Given the description of an element on the screen output the (x, y) to click on. 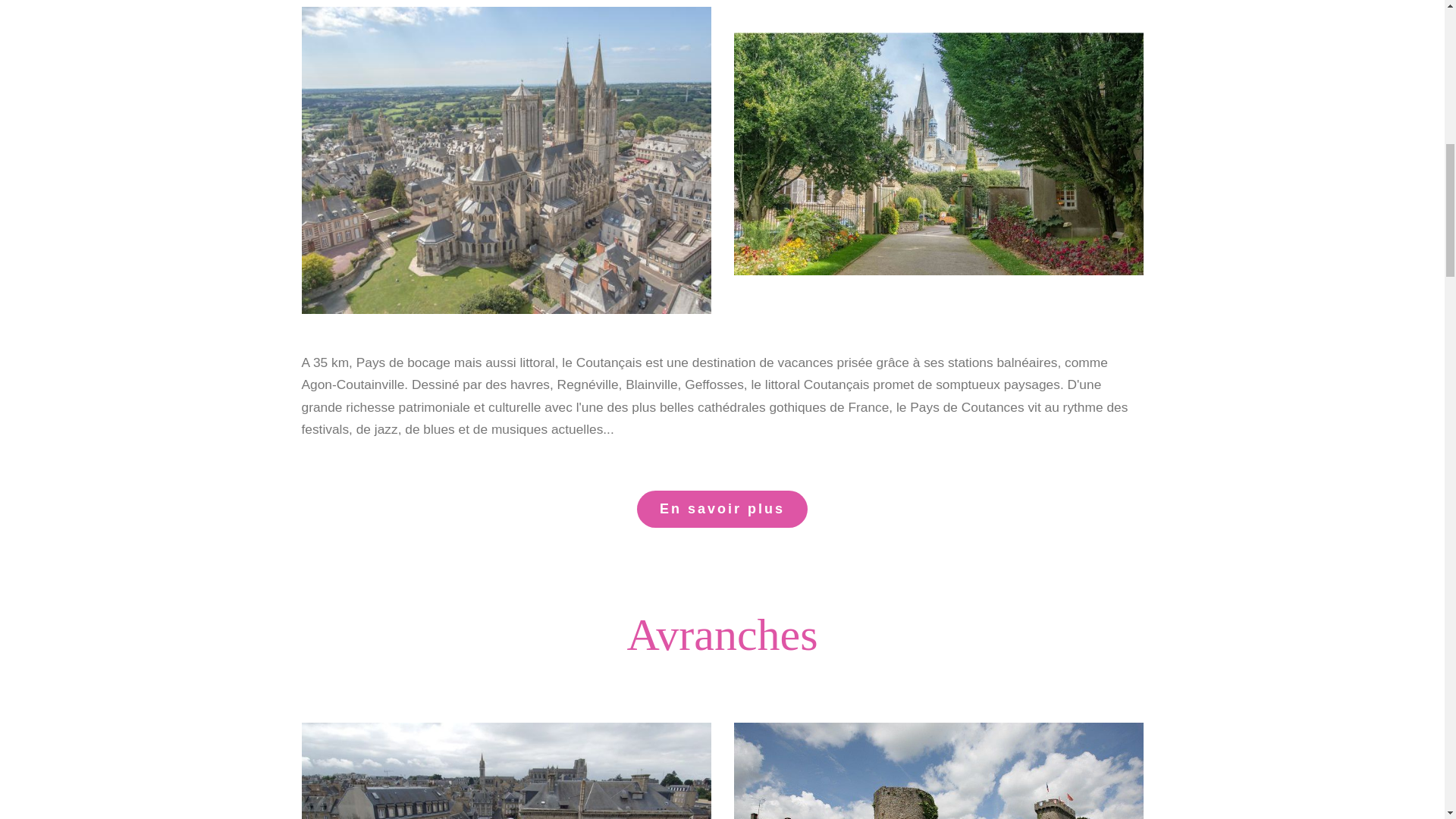
En savoir plus (722, 508)
